Given the description of an element on the screen output the (x, y) to click on. 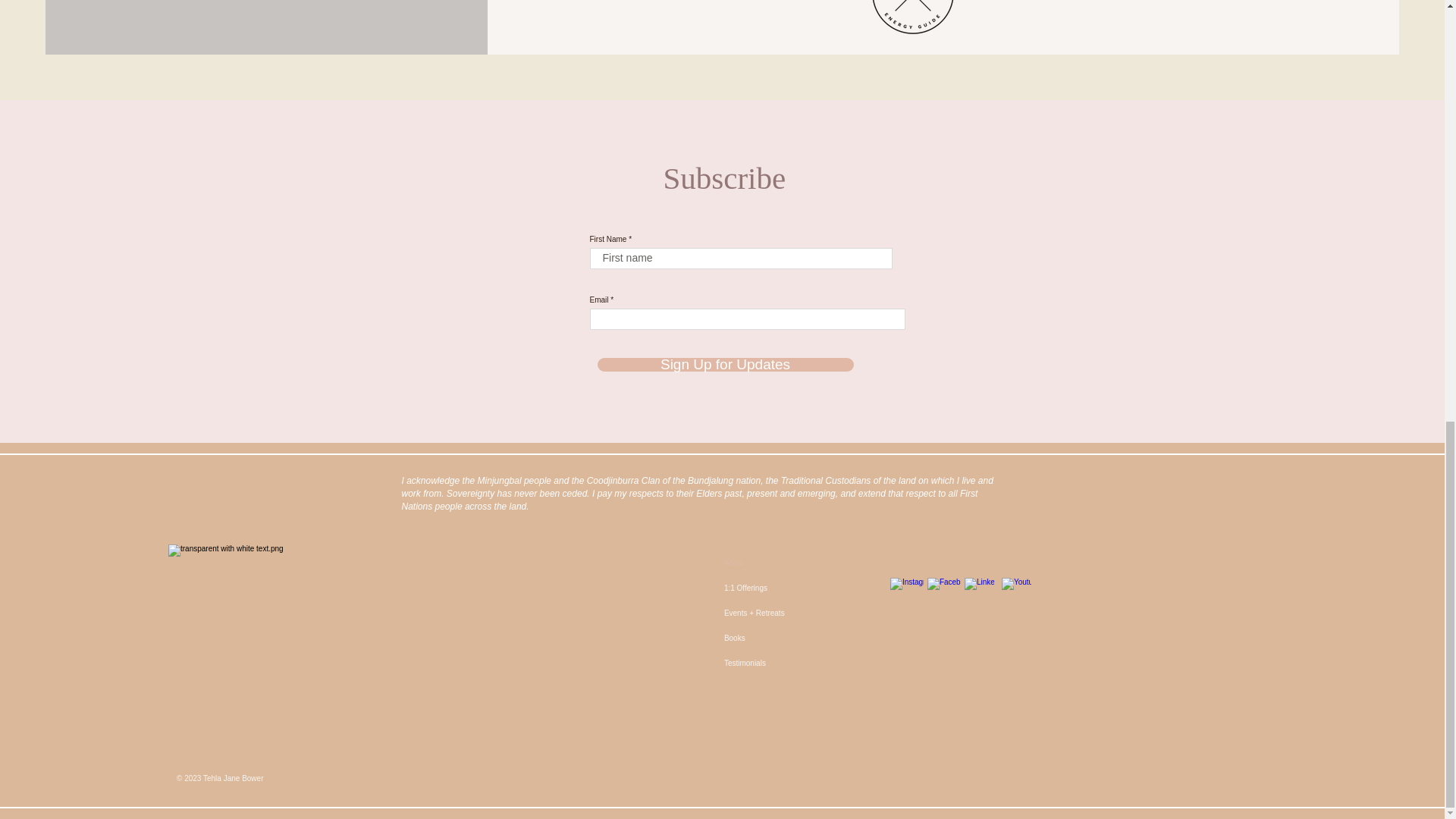
Books (786, 637)
Sign Up for Updates (724, 364)
1:1 Offerings (786, 587)
Testimonials (786, 662)
About (786, 562)
